Given the description of an element on the screen output the (x, y) to click on. 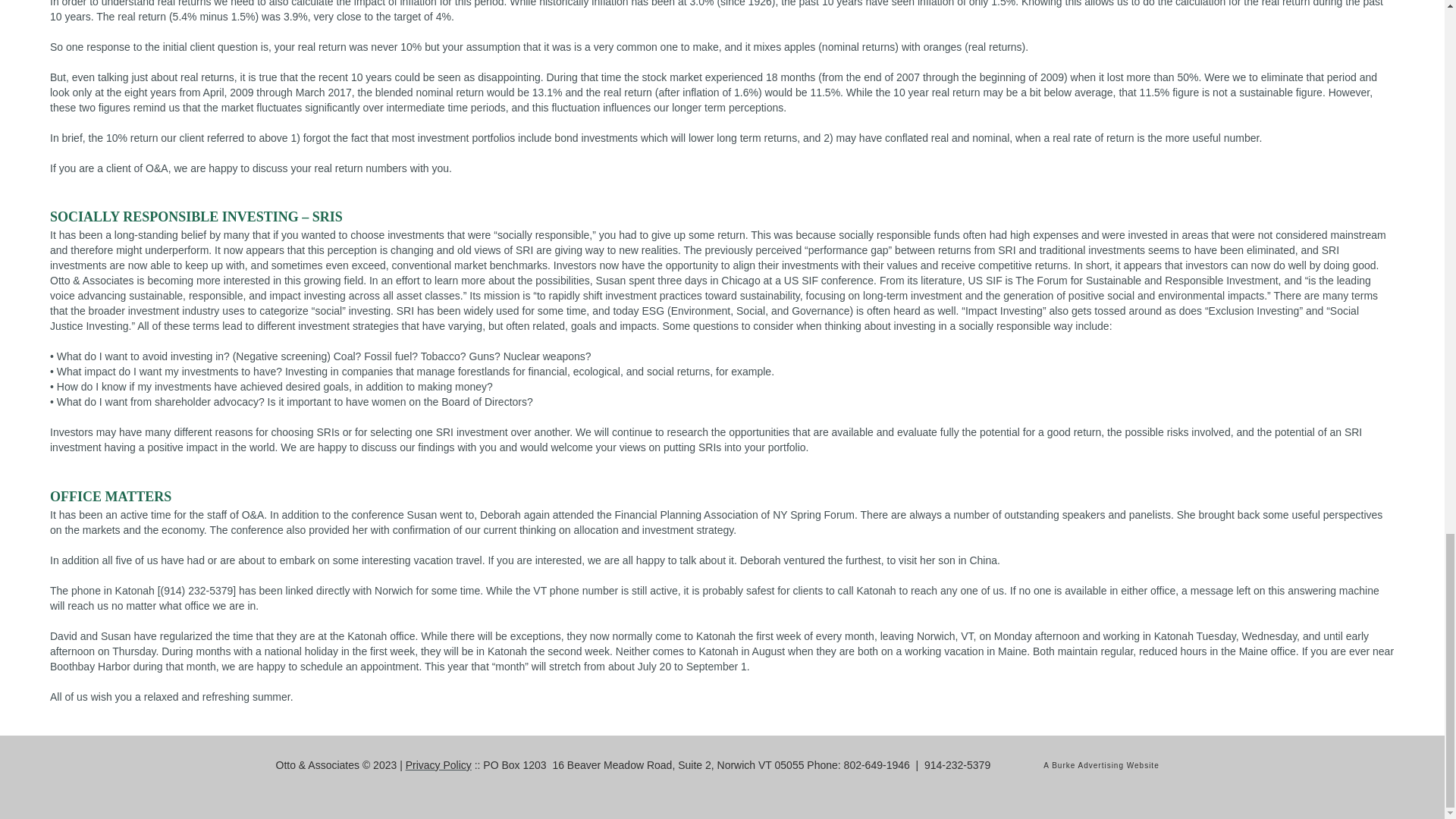
Privacy Policy (438, 765)
A Burke Advertising Website (1100, 765)
